Given the description of an element on the screen output the (x, y) to click on. 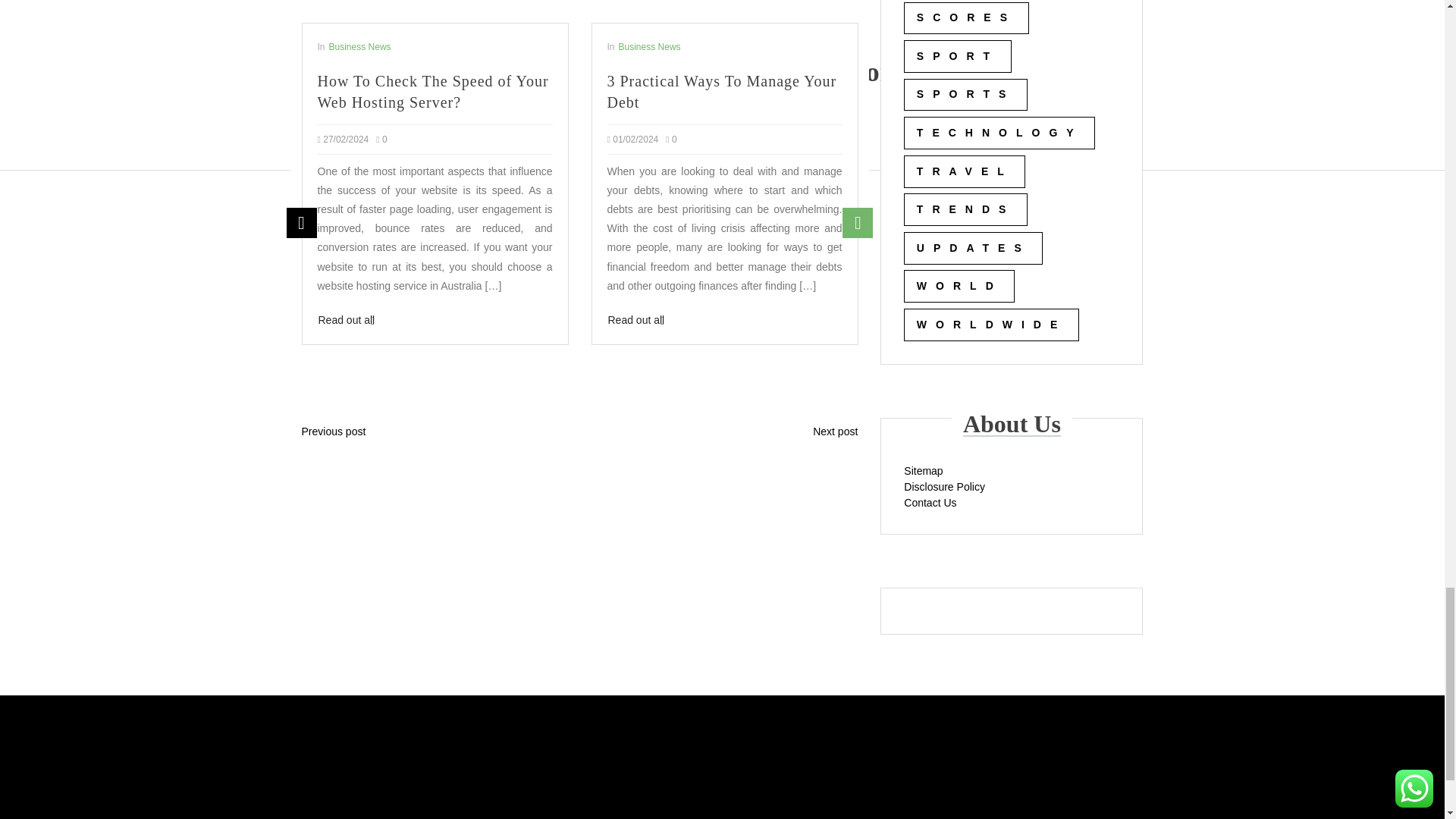
Business News (360, 47)
Previous (301, 223)
How To Check The Speed of Your Web Hosting Server? (434, 91)
